Given the description of an element on the screen output the (x, y) to click on. 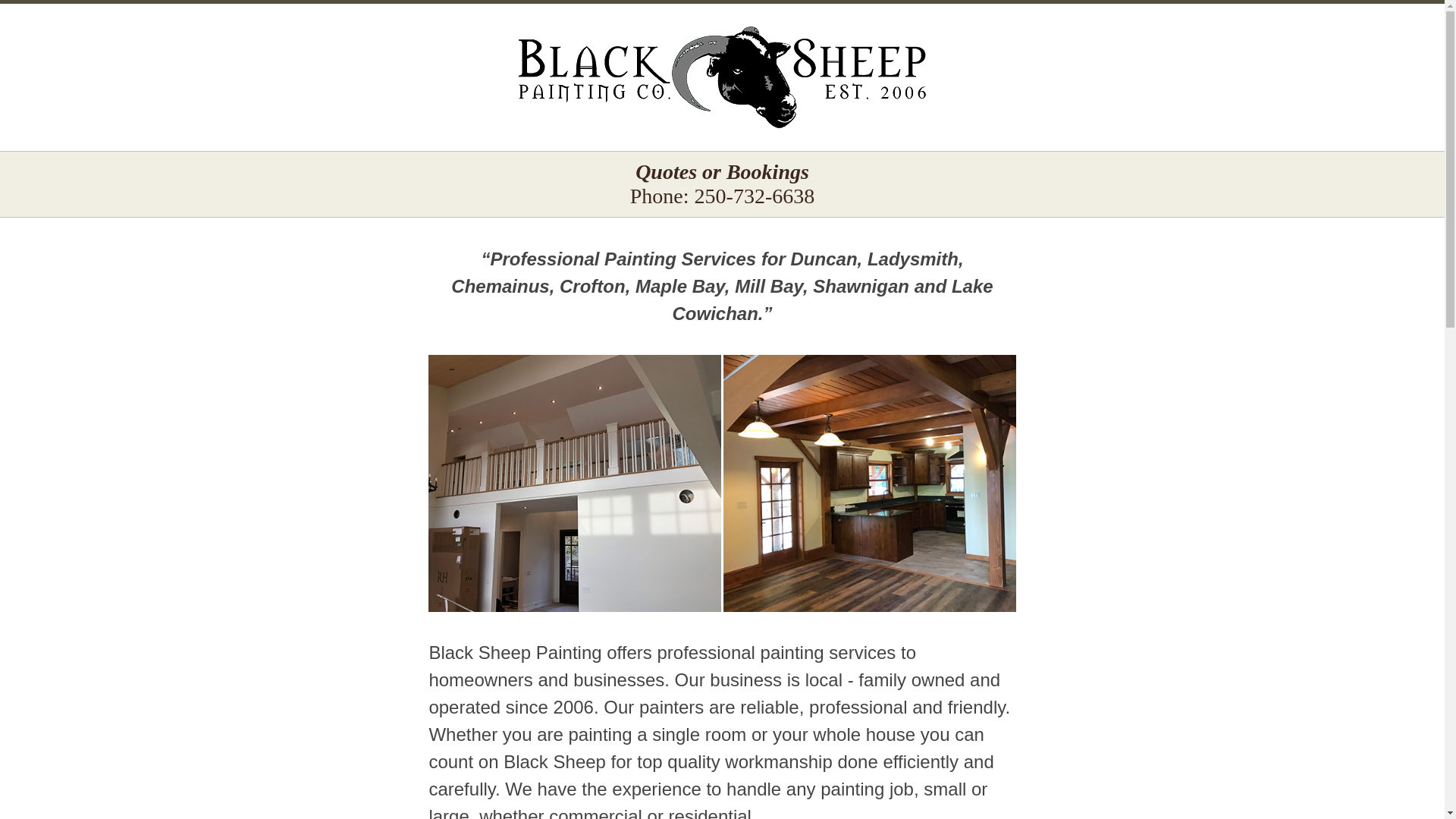
Black Sheep Painting Element type: hover (721, 77)
